Given the description of an element on the screen output the (x, y) to click on. 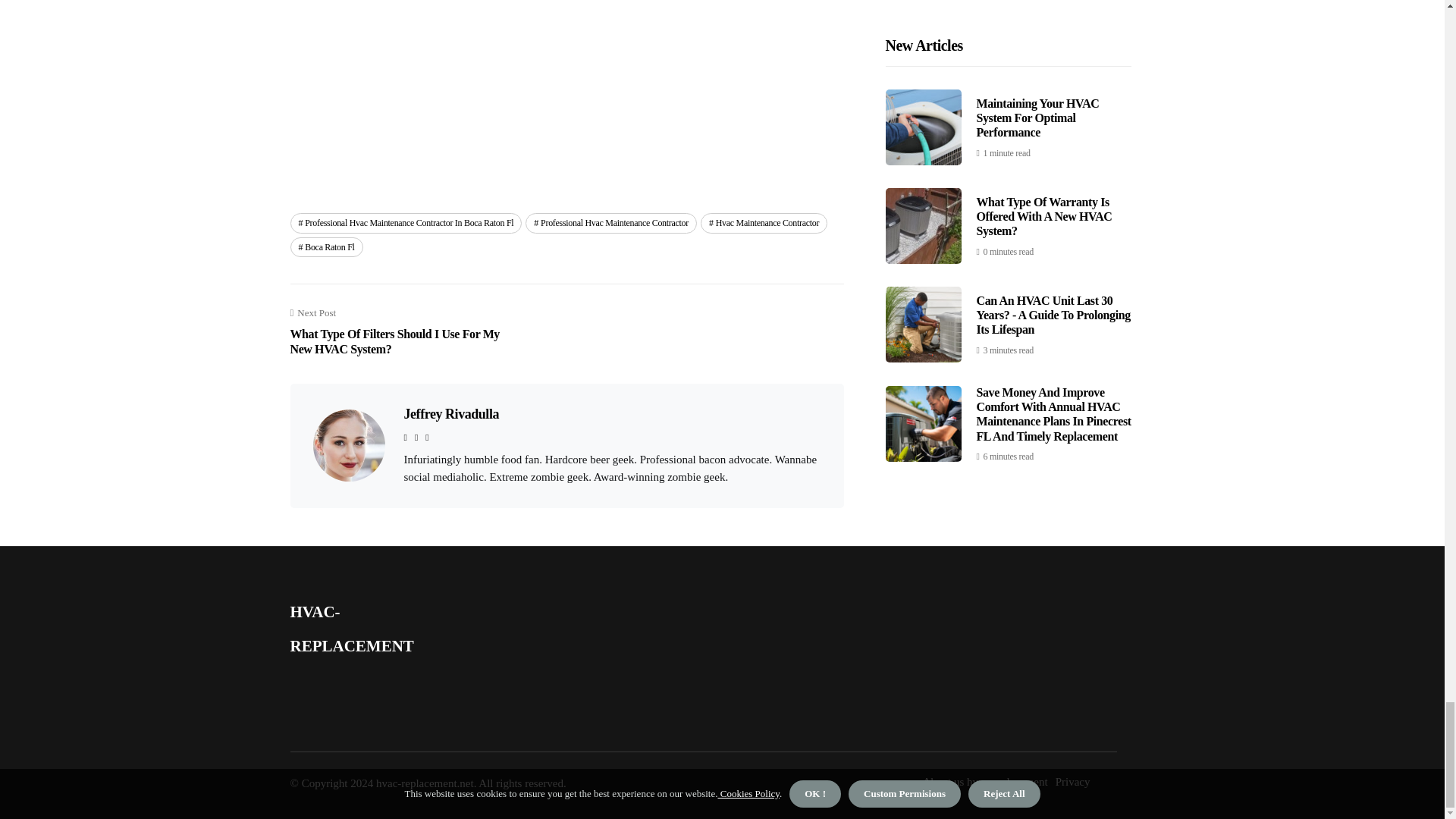
Professional Hvac Maintenance Contractor (611, 222)
Boca Raton Fl (325, 247)
Jeffrey Rivadulla (451, 413)
Hvac Maintenance Contractor (763, 222)
Professional Hvac Maintenance Contractor In Boca Raton Fl (405, 222)
